Given the description of an element on the screen output the (x, y) to click on. 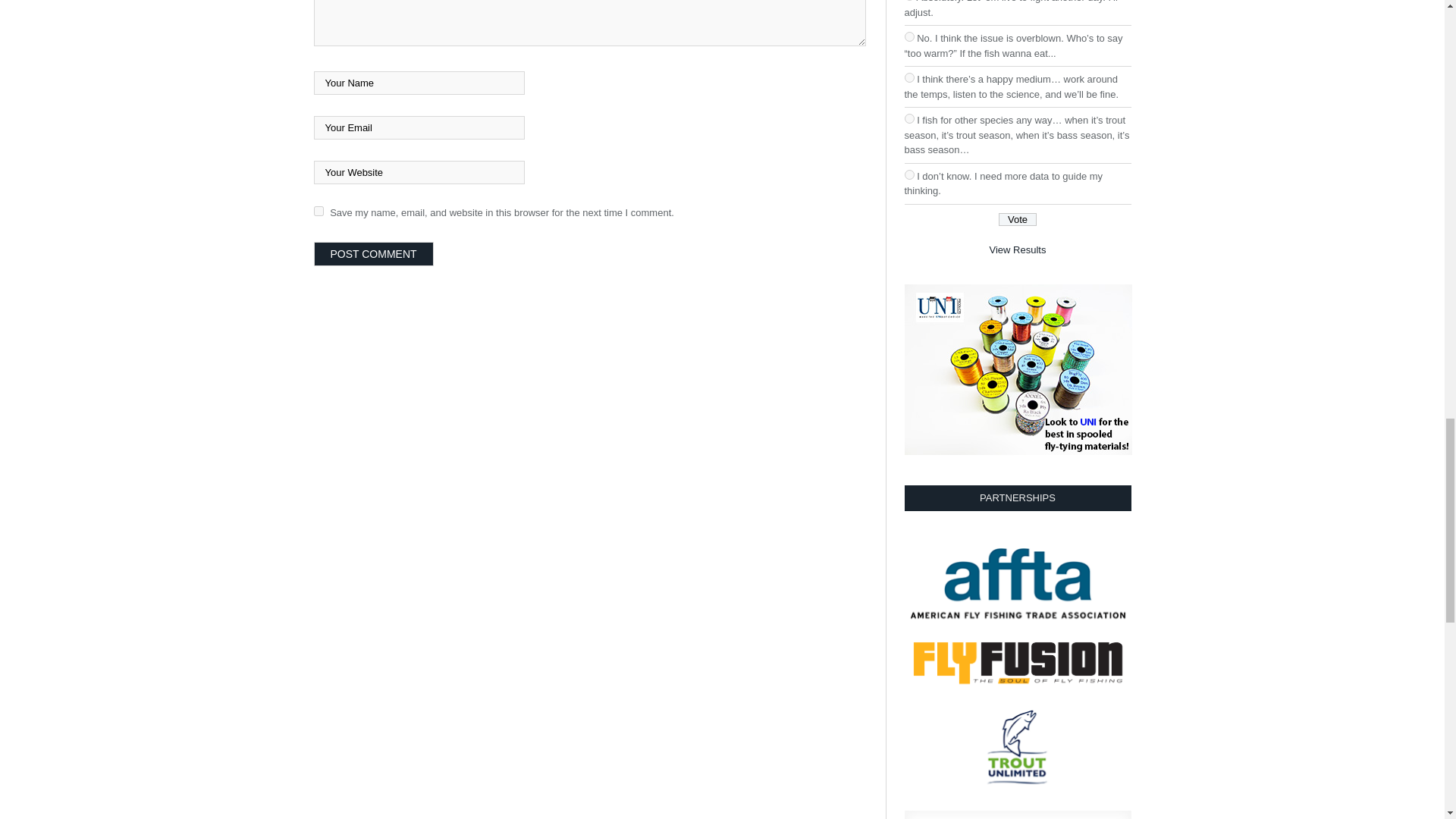
1222 (909, 77)
yes (318, 211)
1221 (909, 36)
1223 (909, 118)
   Vote    (1017, 219)
1224 (909, 174)
Post Comment (373, 253)
